Given the description of an element on the screen output the (x, y) to click on. 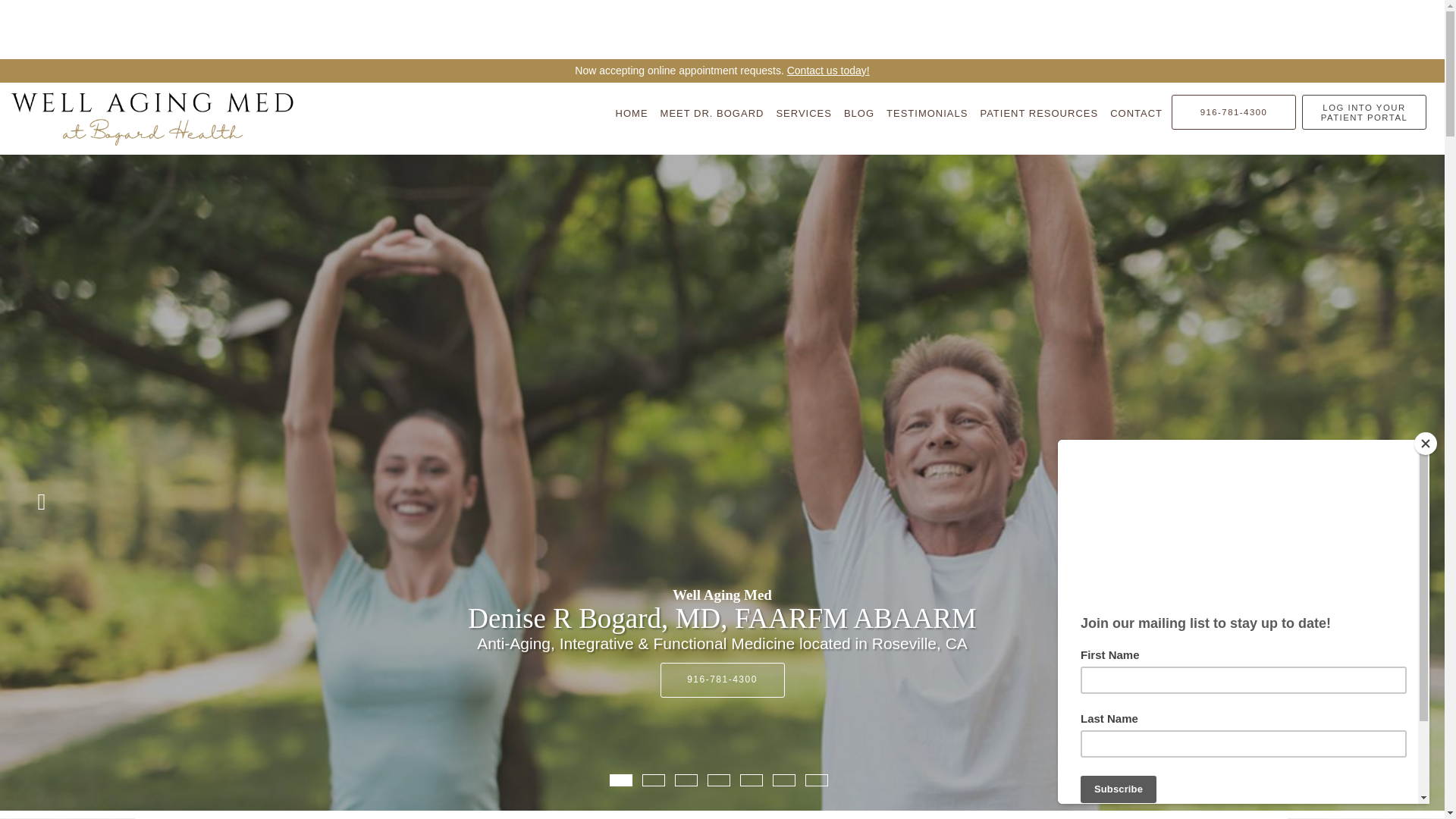
Contact us today! (828, 70)
PATIENT RESOURCES (1038, 112)
LOG INTO YOUR PATIENT PORTAL (1363, 112)
HOME (631, 112)
Skip to main content (74, 89)
SERVICES (804, 112)
916-781-4300 (1233, 112)
BLOG (859, 112)
MEET DR. BOGARD (711, 112)
TESTIMONIALS (927, 112)
CONTACT (1136, 112)
